Given the description of an element on the screen output the (x, y) to click on. 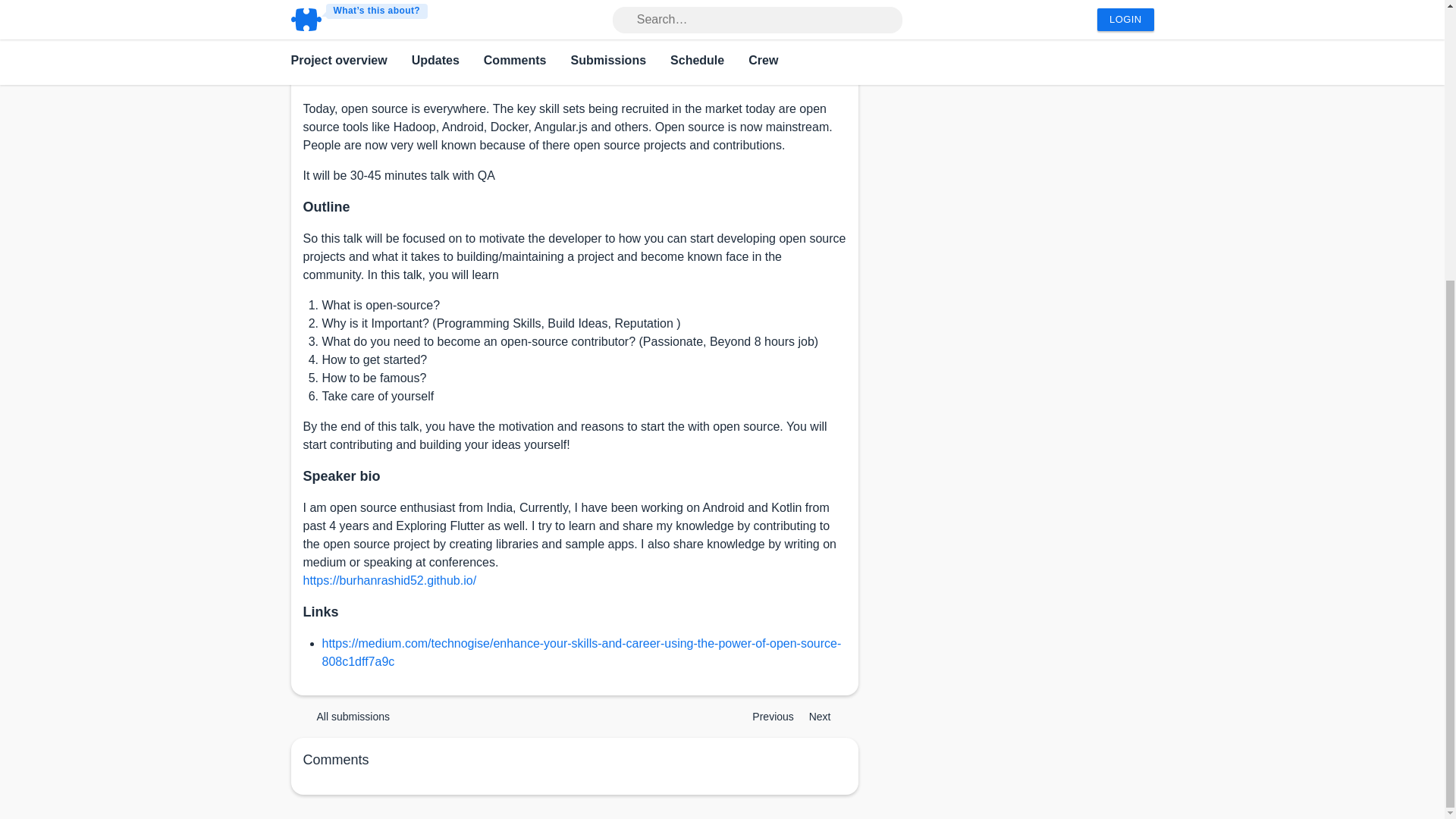
Speaker bio (341, 476)
Outline (326, 206)
